Given the description of an element on the screen output the (x, y) to click on. 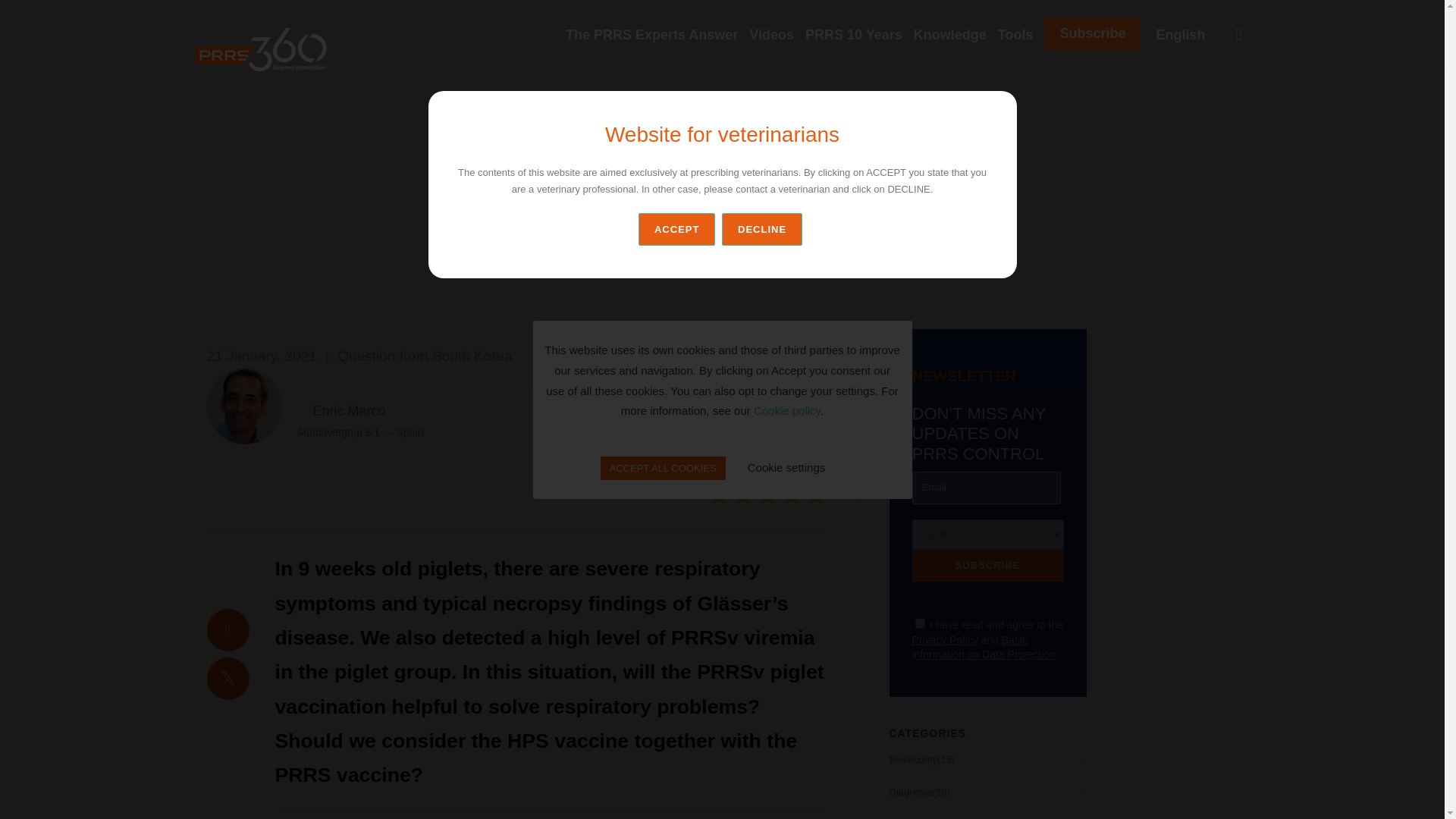
Subscribe (986, 564)
DECLINE (762, 228)
English (1185, 35)
The PRRS Experts Answer (657, 35)
Knowledge (955, 35)
Subscribe (1091, 33)
PRRS 10 Years (859, 35)
Videos (777, 35)
DECLINE (764, 229)
ACCEPT (676, 228)
English (1185, 35)
1 (919, 623)
Tools (1021, 35)
